Given the description of an element on the screen output the (x, y) to click on. 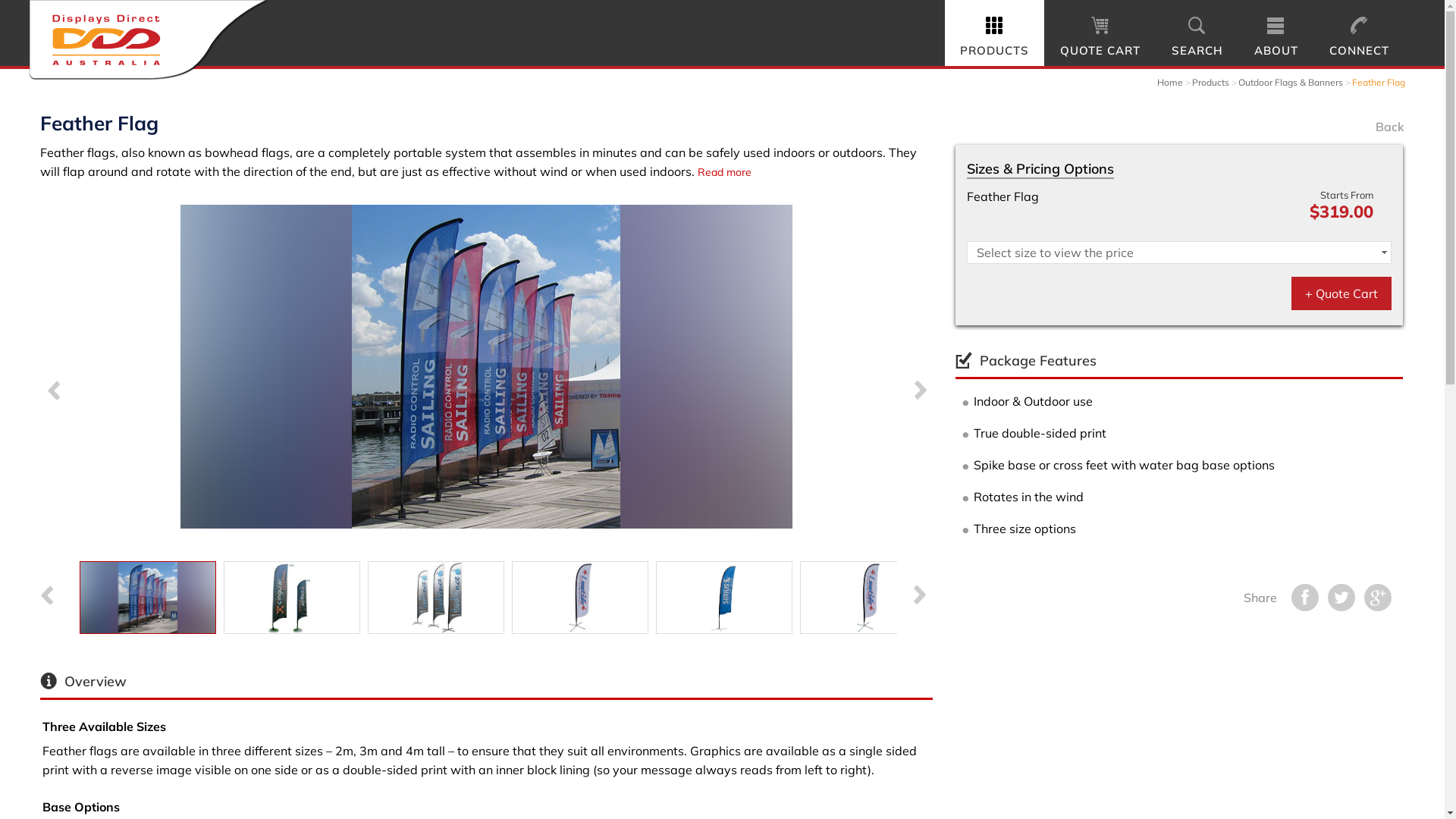
Displays Direct Australia Element type: hover (149, 41)
Products Element type: text (1210, 81)
Read more Element type: text (724, 171)
Home Element type: text (1170, 81)
+ Quote Cart Element type: text (1341, 293)
Outdoor Flags & Banners Element type: text (1290, 81)
Select size to view the price Element type: text (1178, 252)
Back Element type: text (1389, 126)
